Given the description of an element on the screen output the (x, y) to click on. 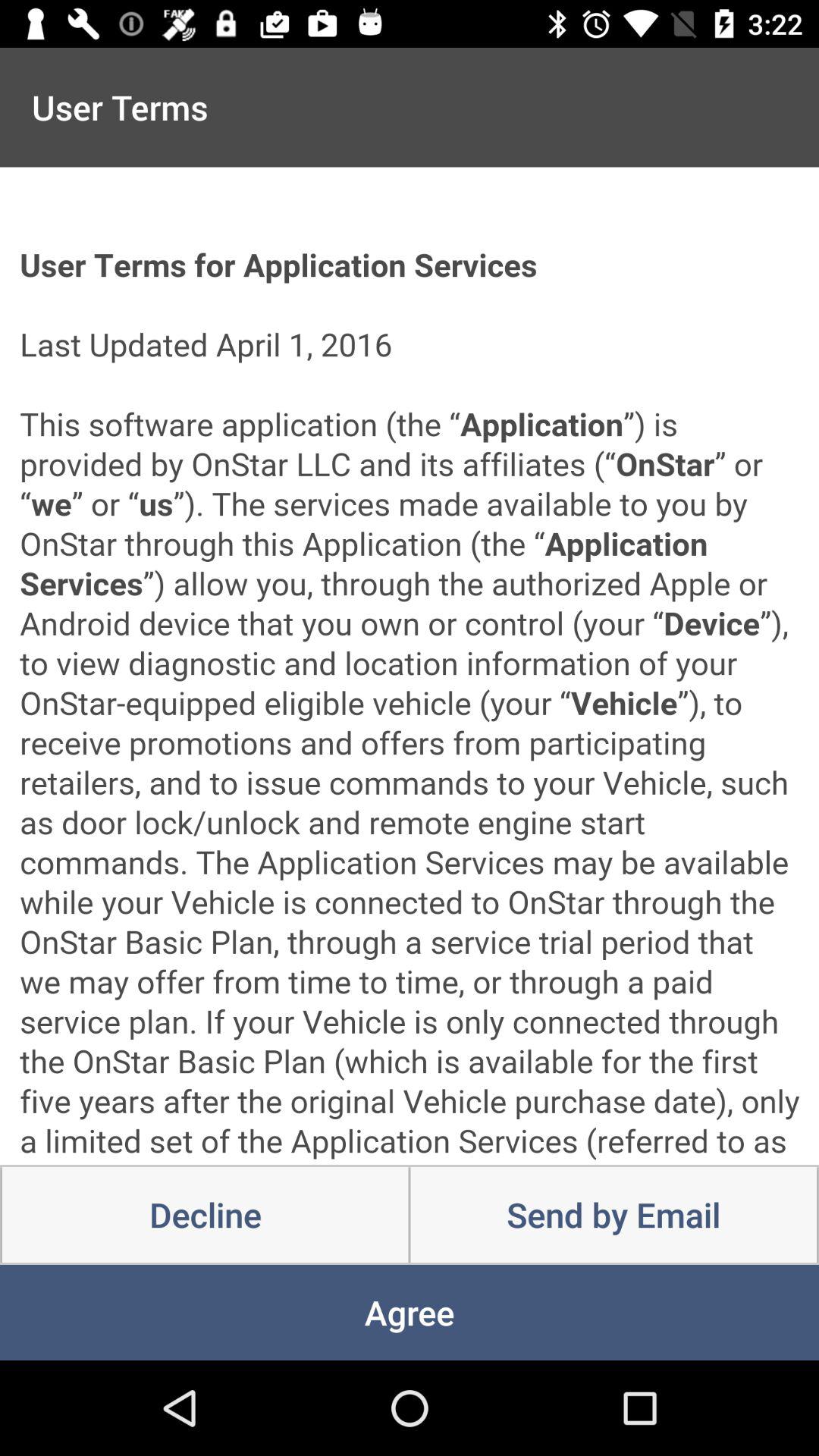
tap icon above the decline (409, 665)
